Given the description of an element on the screen output the (x, y) to click on. 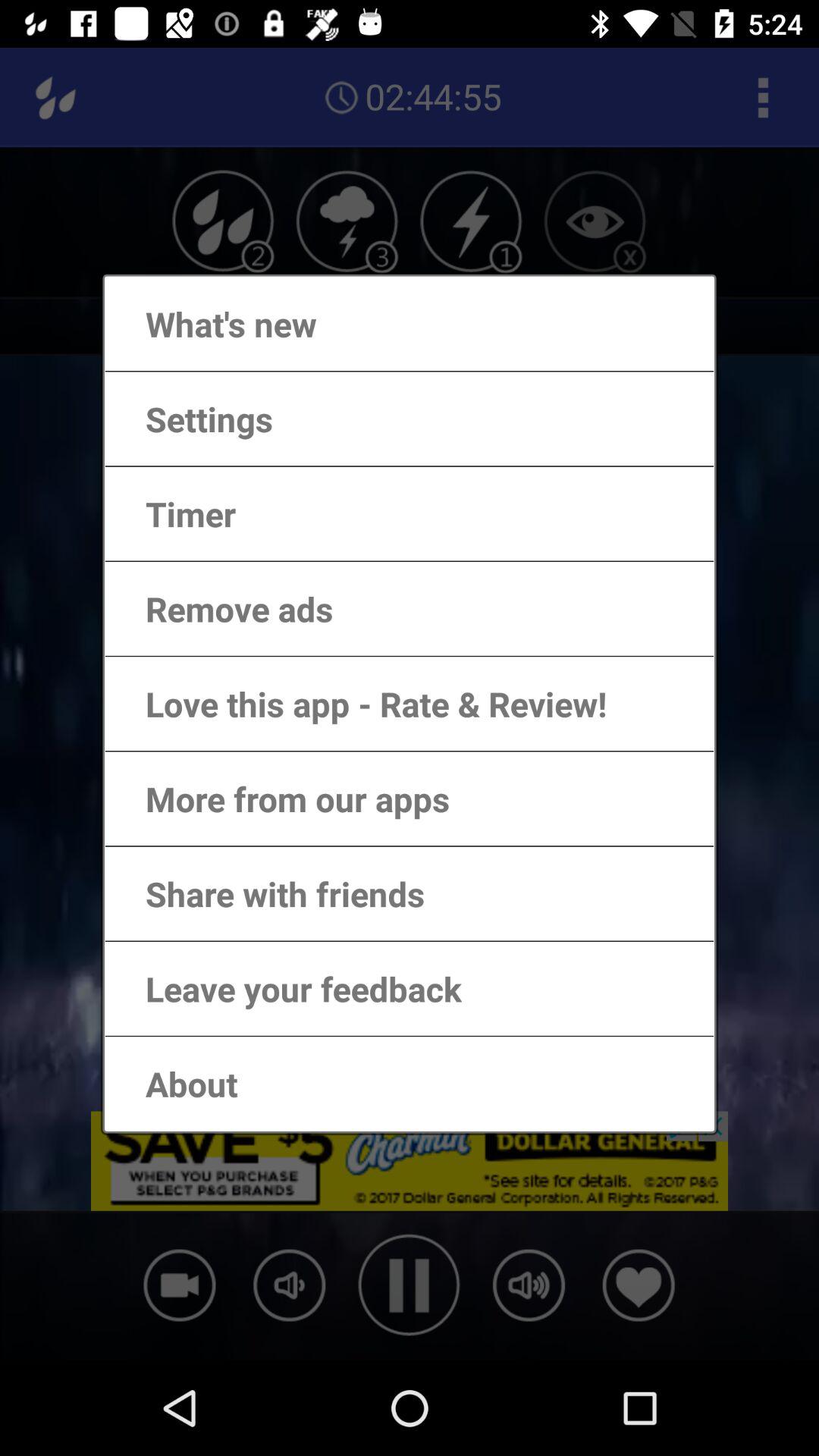
jump to what's new app (215, 323)
